Given the description of an element on the screen output the (x, y) to click on. 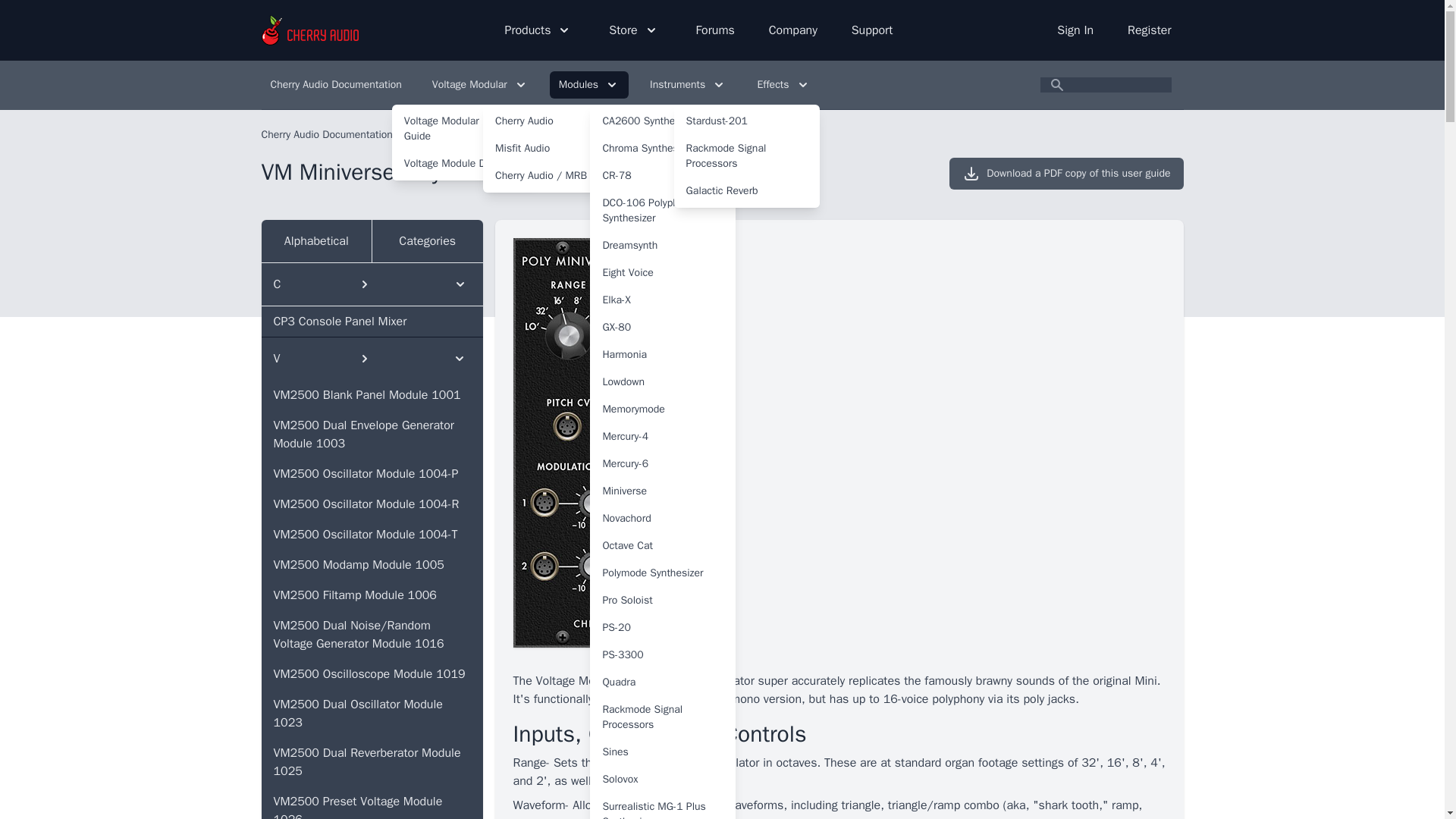
Sign In (1077, 30)
Products (539, 30)
Store (634, 30)
Support (872, 30)
Company (794, 30)
Register (1149, 30)
Cherry Audio Documentation (335, 84)
Forums (715, 30)
